Given the description of an element on the screen output the (x, y) to click on. 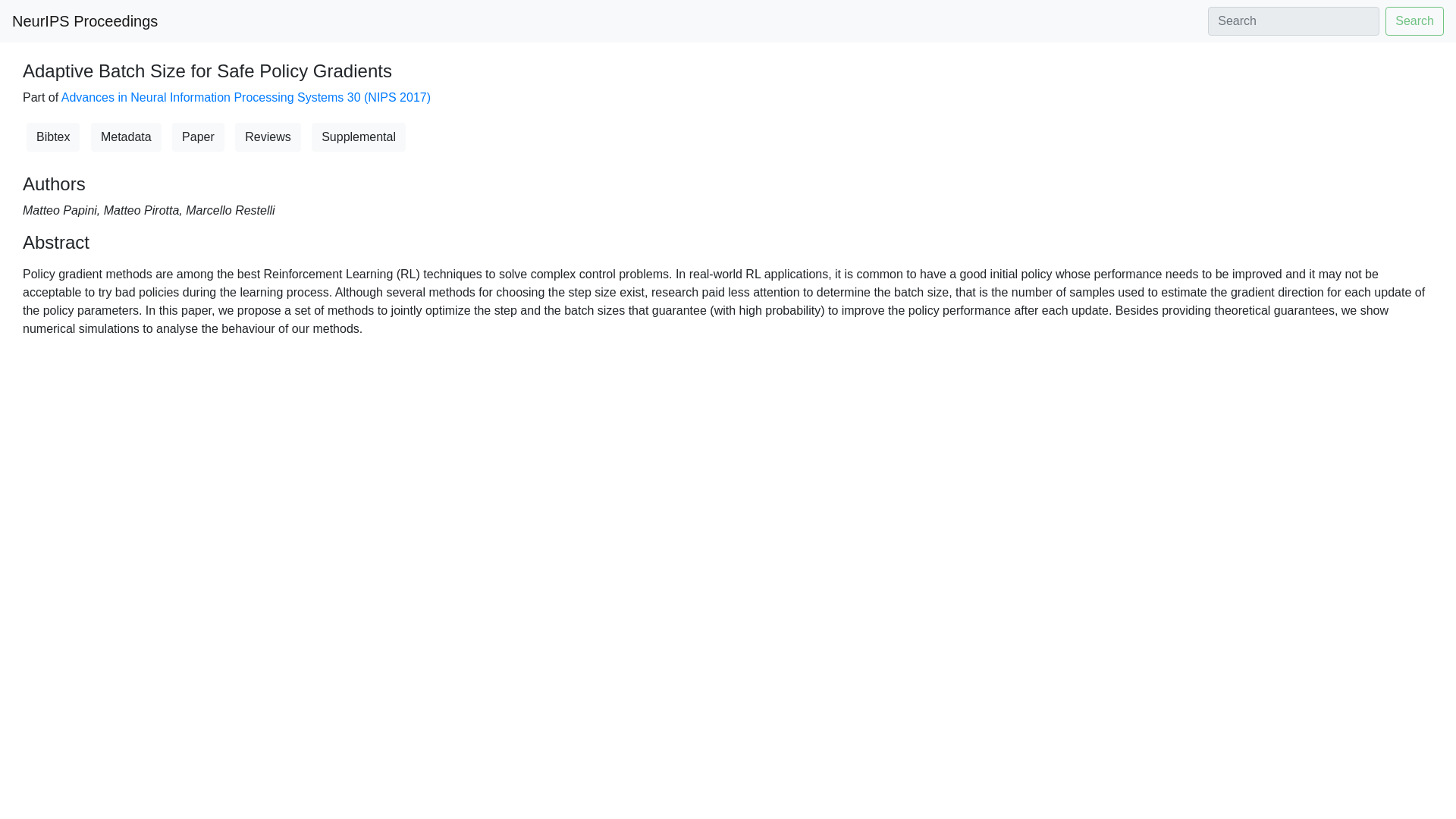
NeurIPS Proceedings (84, 20)
Bibtex (53, 136)
Supplemental (358, 136)
Metadata (125, 136)
Search (1415, 21)
Reviews (266, 136)
Paper (197, 136)
